Given the description of an element on the screen output the (x, y) to click on. 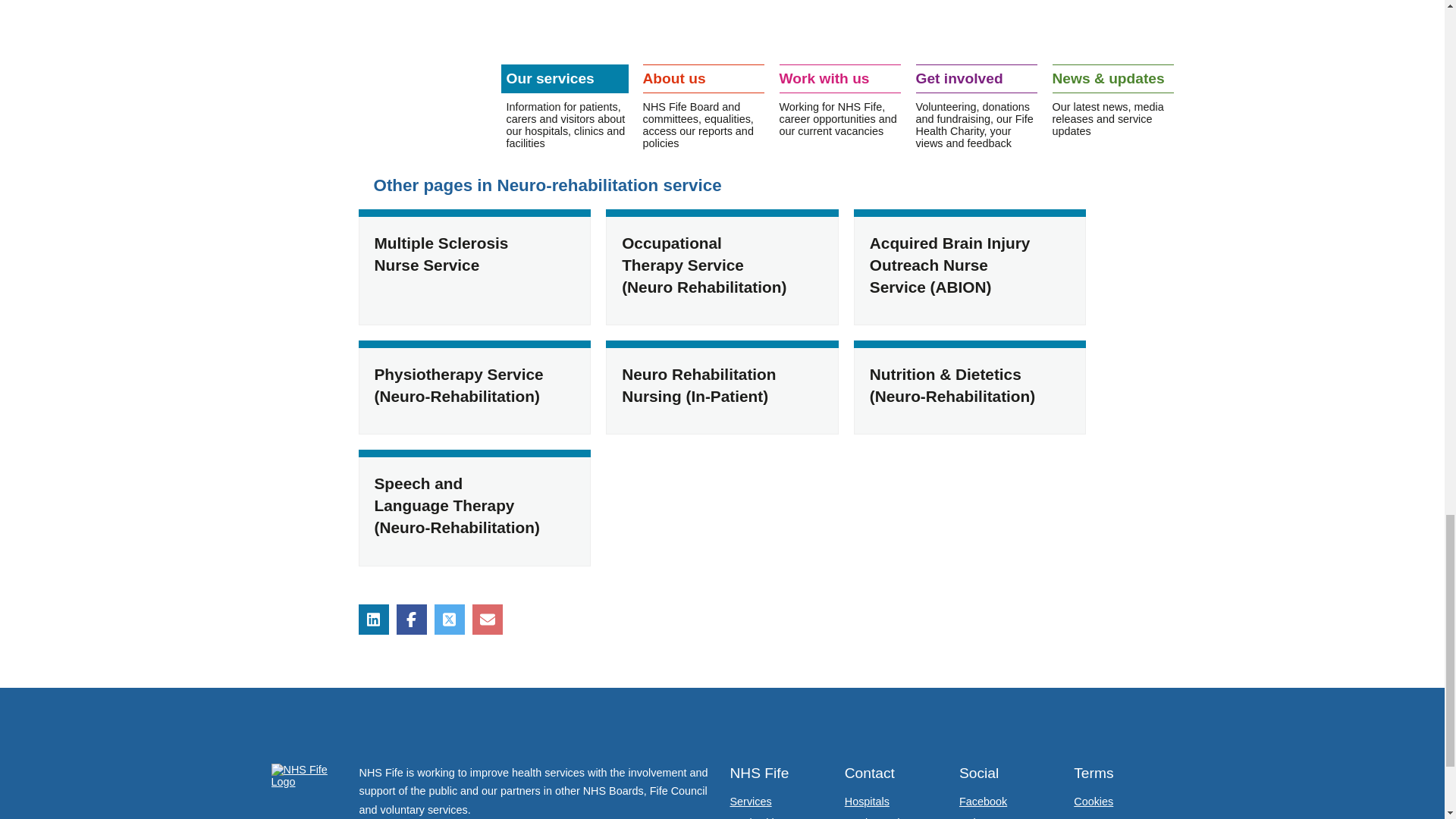
Work with us (760, 817)
Services (750, 801)
Facebook (983, 801)
Twitter (975, 817)
Get in touch (874, 817)
Hospitals (866, 801)
